Given the description of an element on the screen output the (x, y) to click on. 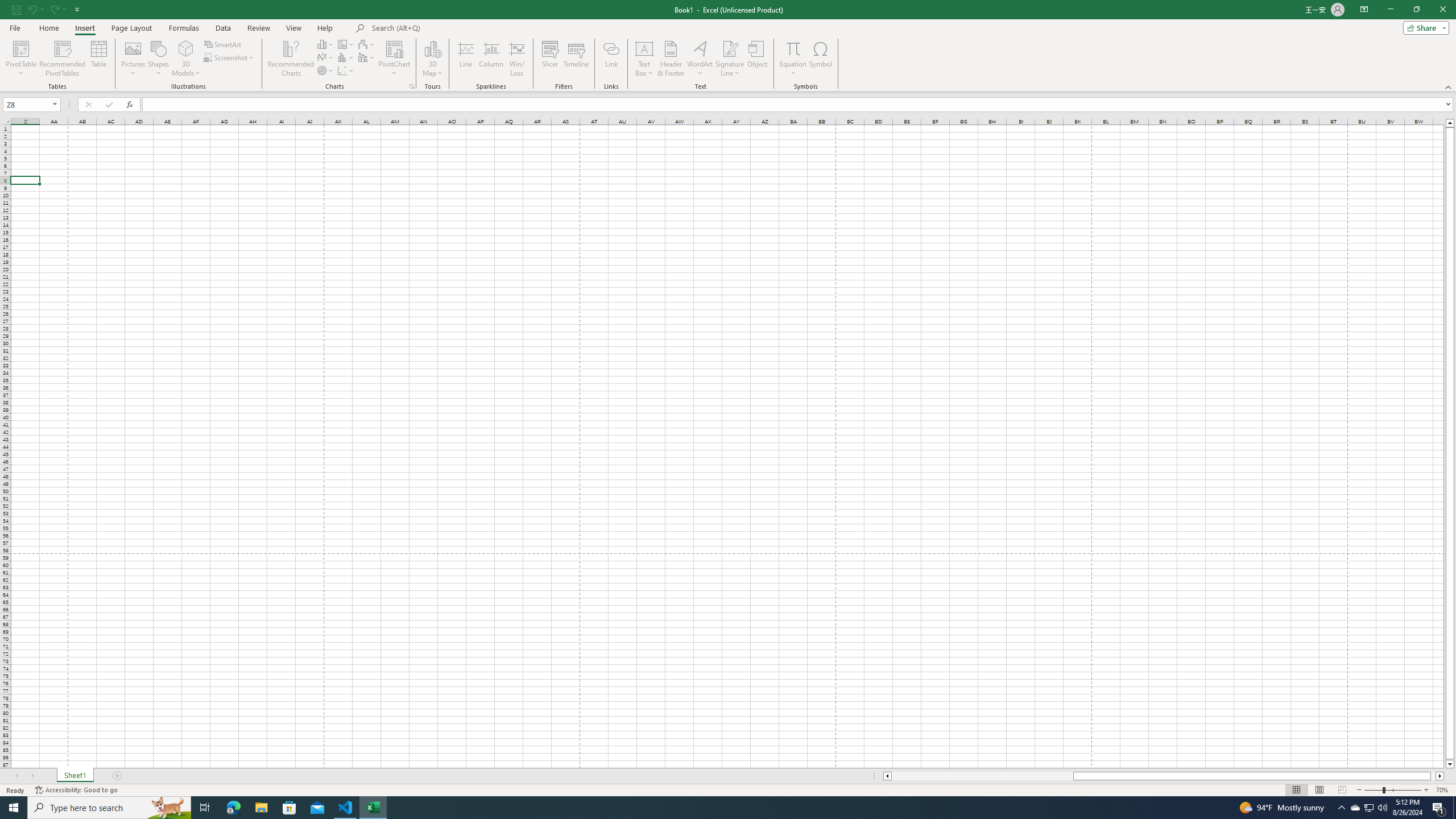
Insert Column or Bar Chart (325, 44)
